Given the description of an element on the screen output the (x, y) to click on. 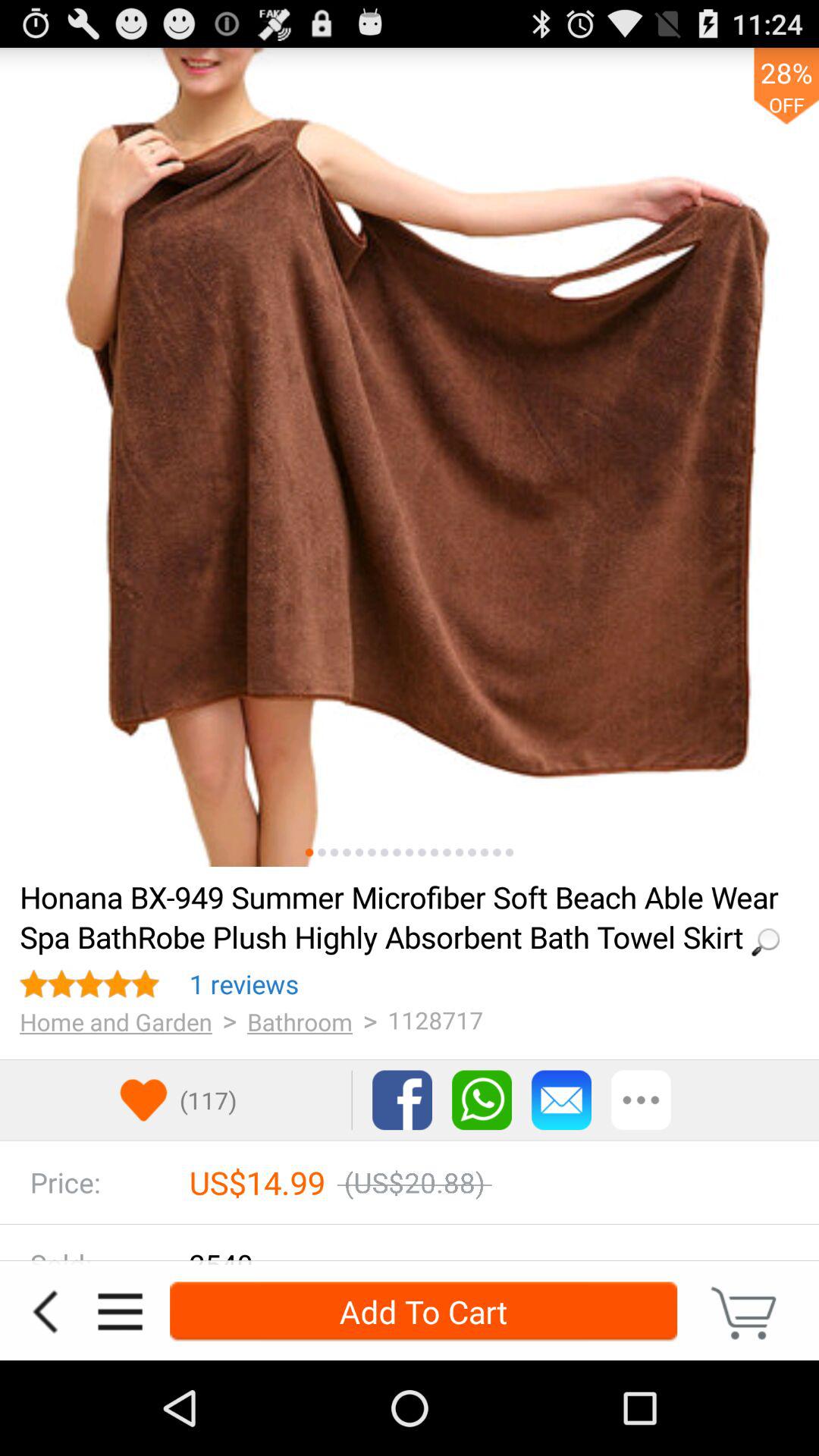
scroll next image (447, 852)
